Given the description of an element on the screen output the (x, y) to click on. 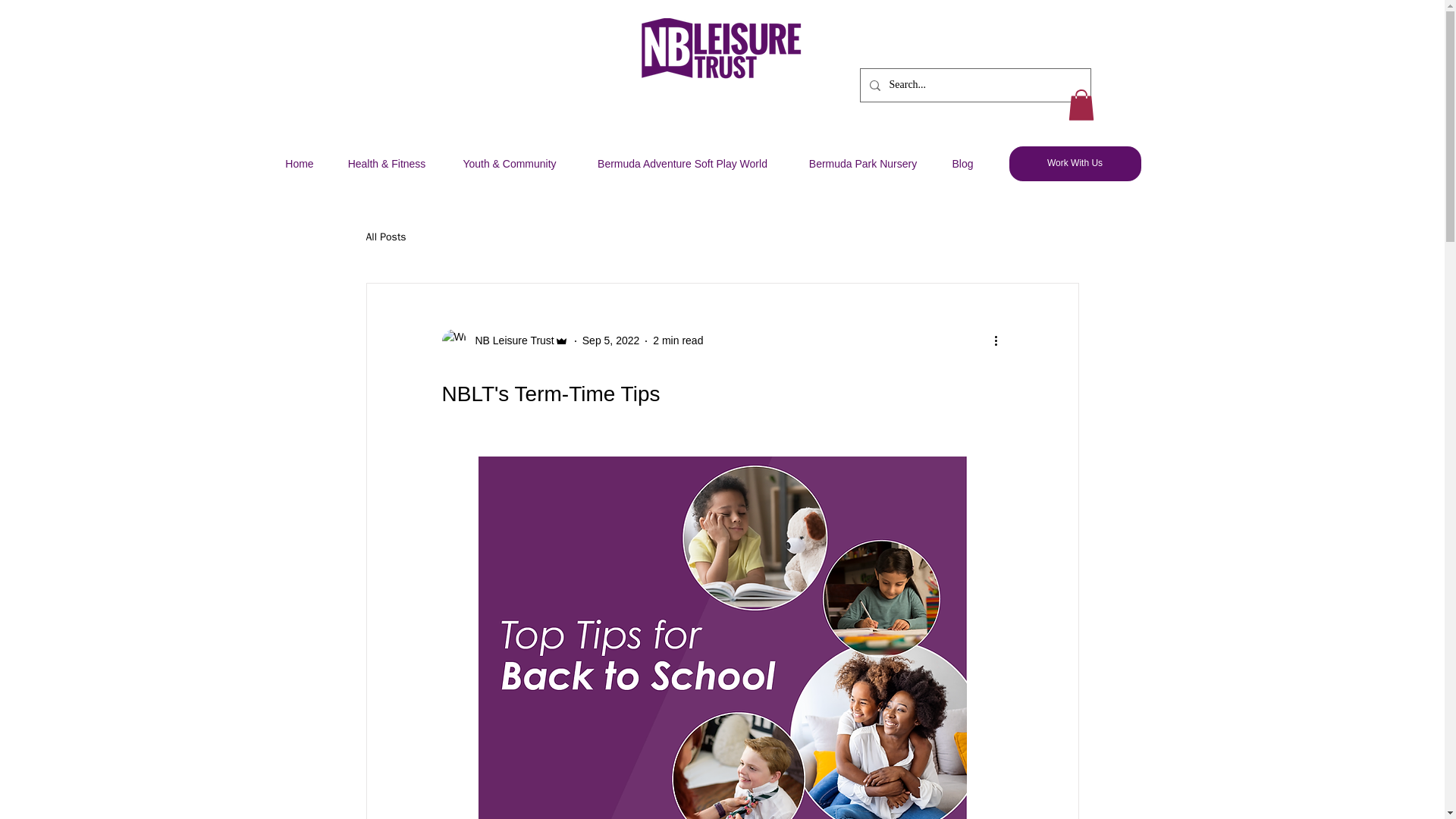
Home (299, 163)
NB Leisure Trust (509, 340)
Sep 5, 2022 (611, 340)
2 min read (677, 340)
